Given the description of an element on the screen output the (x, y) to click on. 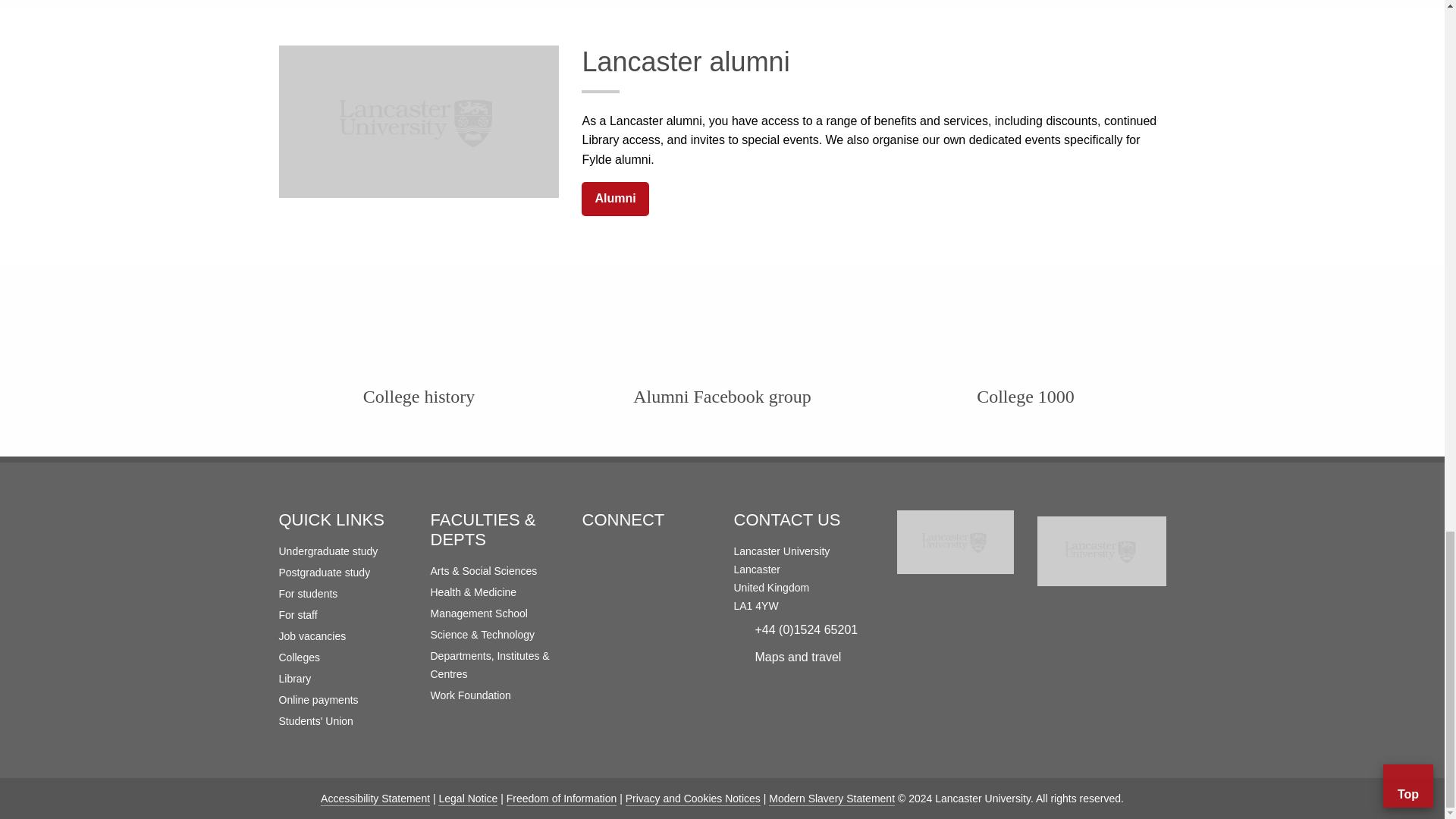
Full 2025 World University Rankings. (1101, 554)
